Given the description of an element on the screen output the (x, y) to click on. 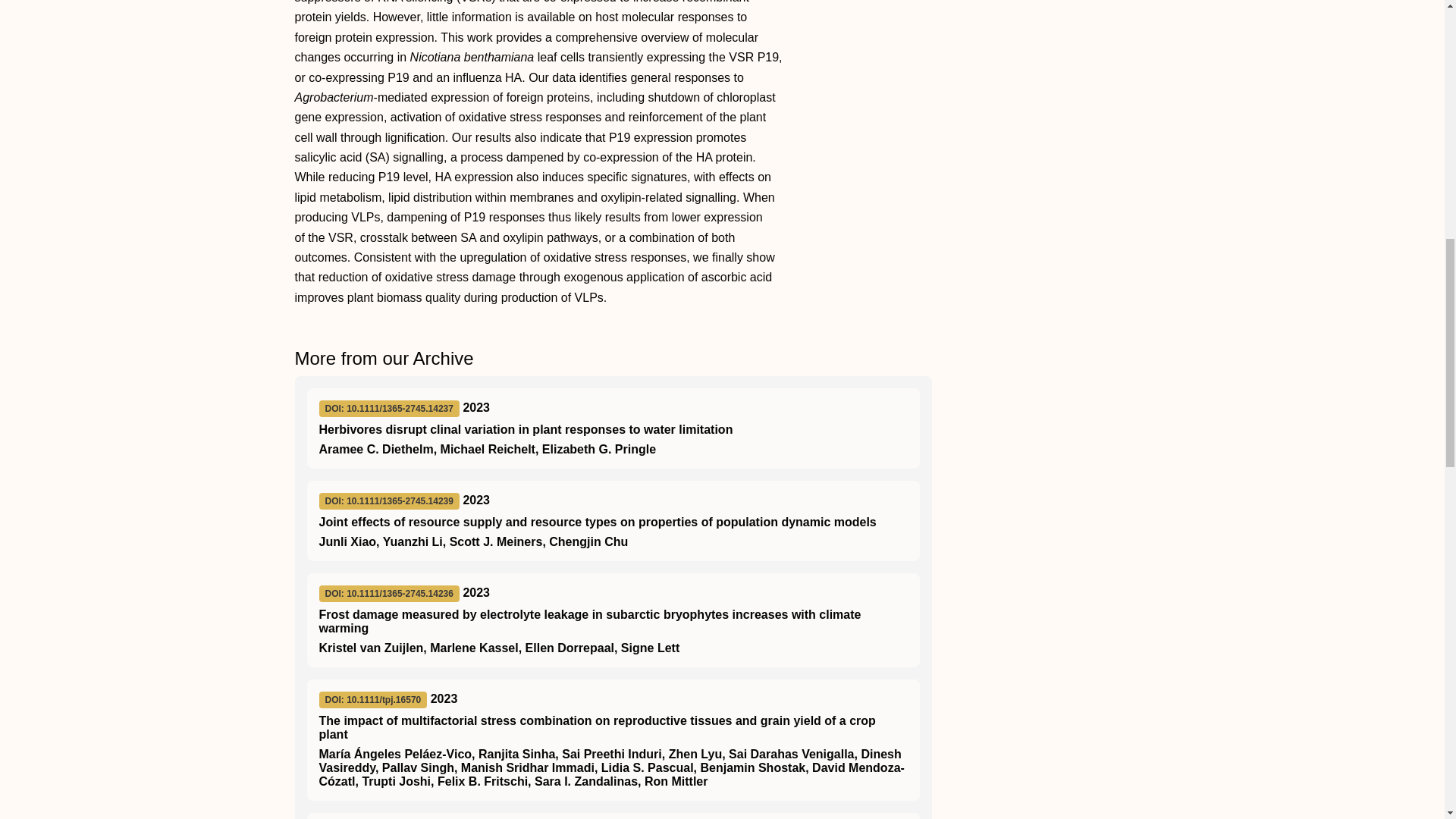
Advertisement (1049, 62)
